Given the description of an element on the screen output the (x, y) to click on. 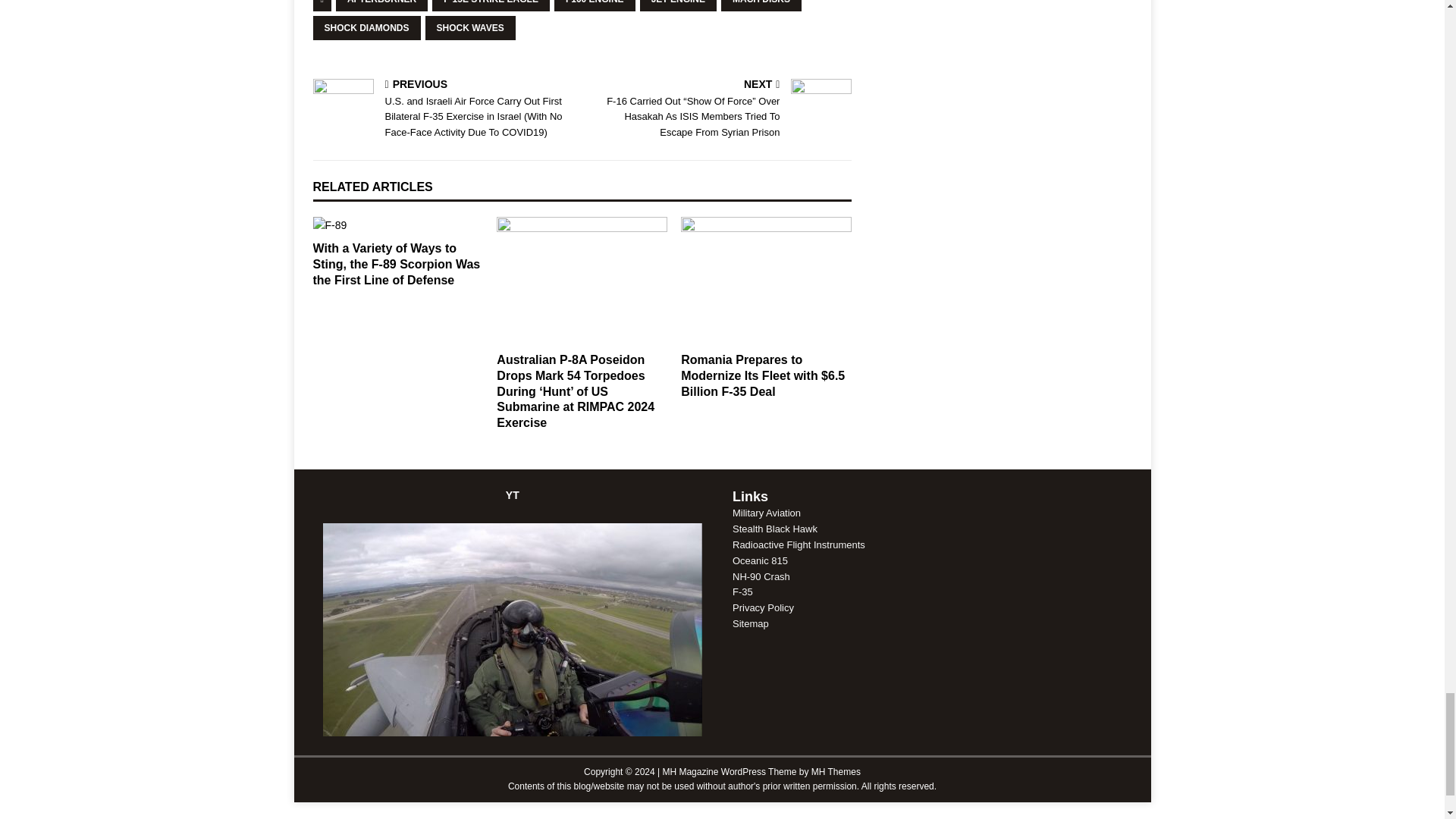
AFTERBURNER (382, 5)
F100 ENGINE (594, 5)
SHOCK DIAMONDS (366, 27)
JET ENGINE (678, 5)
MACH DISKS (761, 5)
SHOCK WAVES (470, 27)
F-15E STRIKE EAGLE (491, 5)
